Given the description of an element on the screen output the (x, y) to click on. 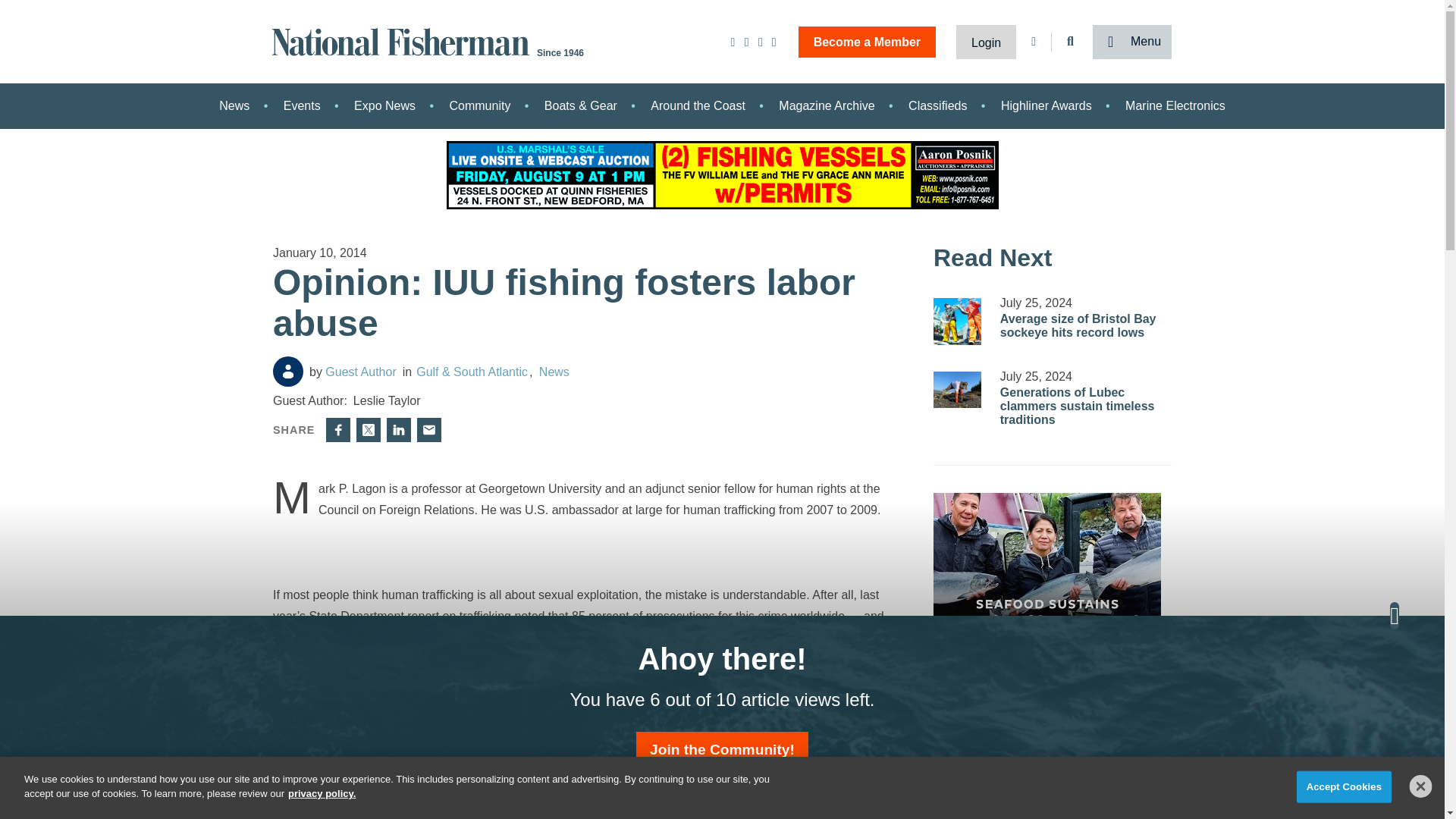
National Fisherman (403, 40)
Guest Author (287, 371)
Become a Member (866, 41)
Guest Author (352, 372)
Login (986, 41)
